Given the description of an element on the screen output the (x, y) to click on. 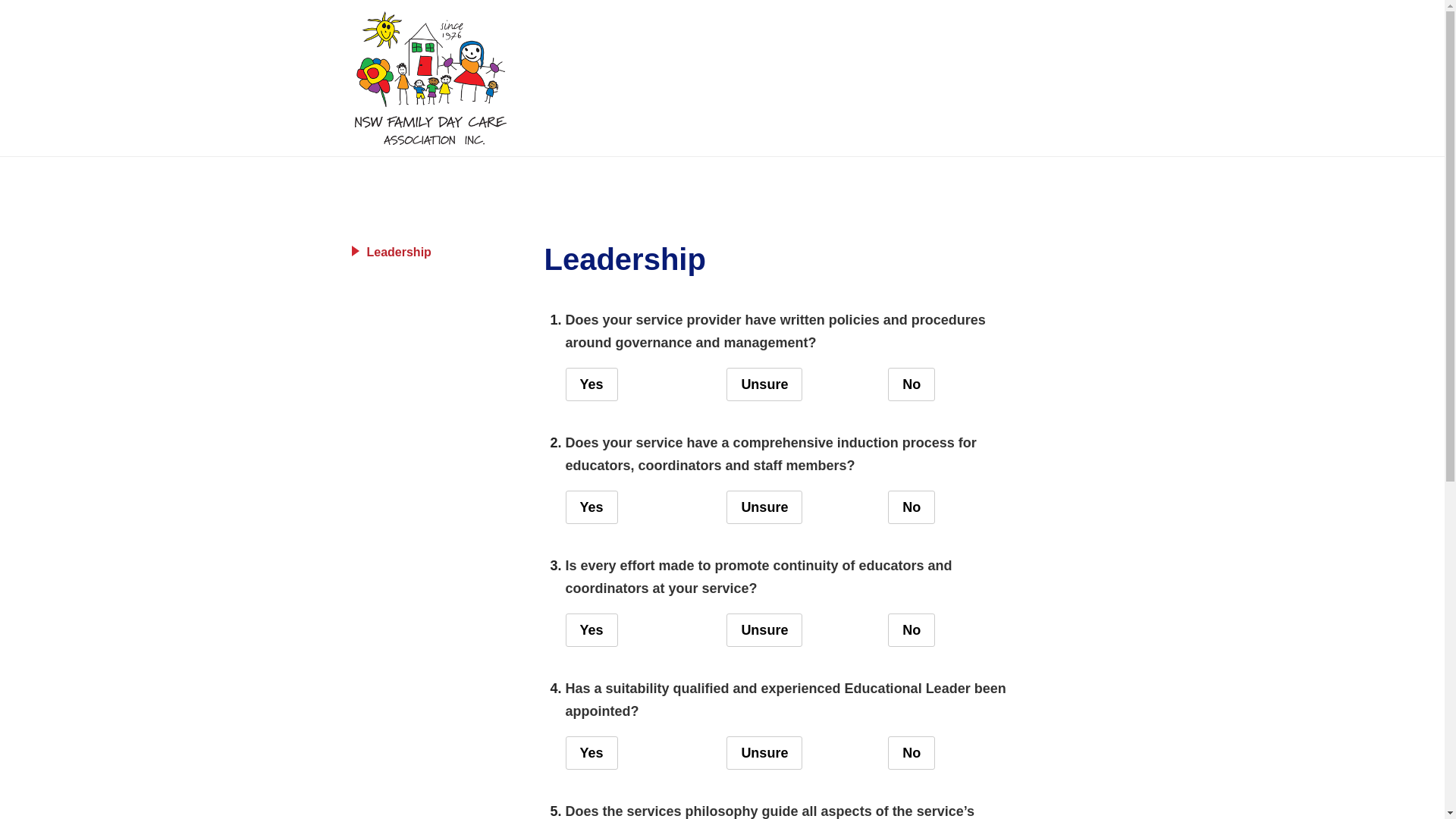
Leadership Element type: text (437, 252)
